Given the description of an element on the screen output the (x, y) to click on. 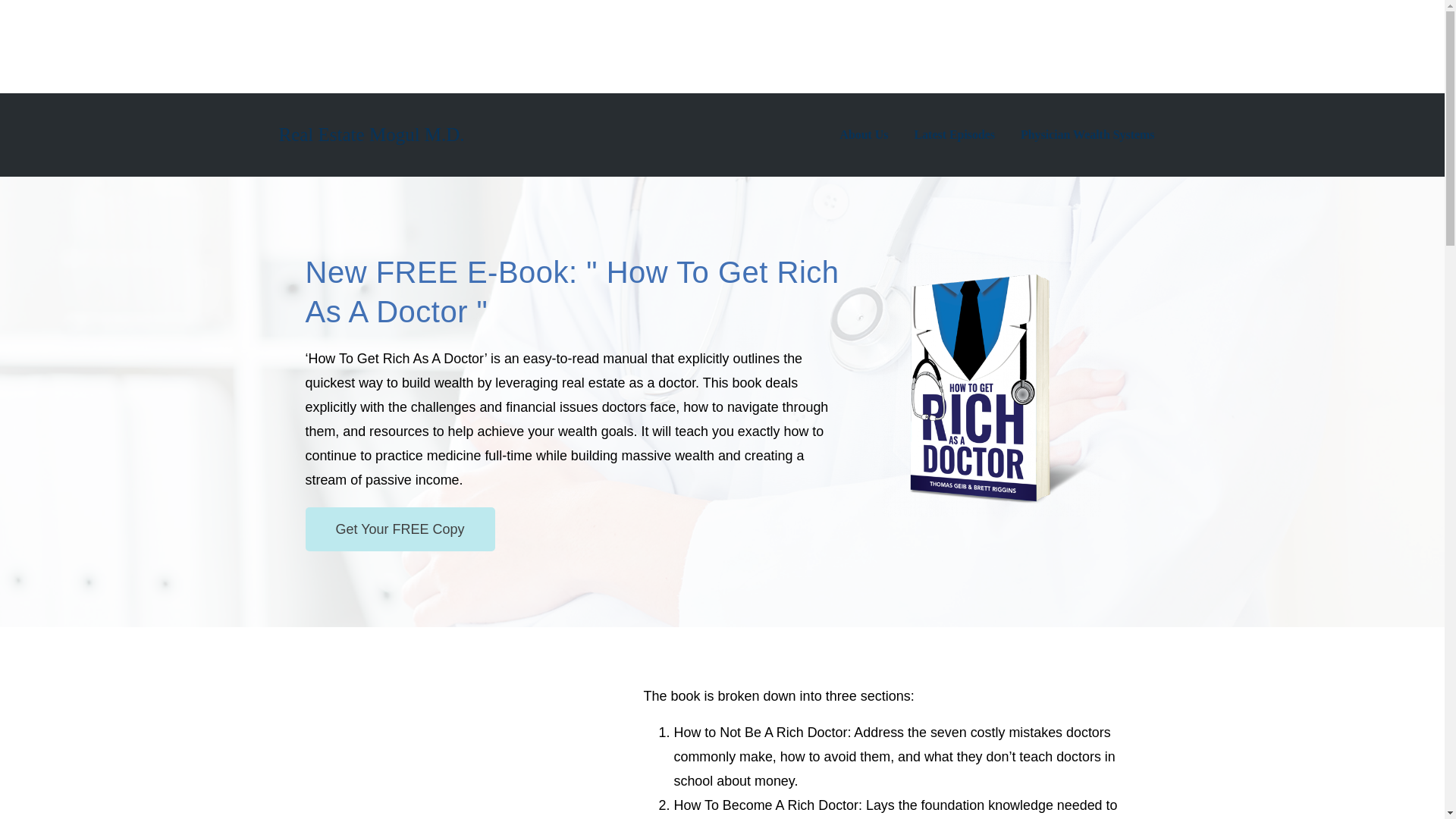
Real Estate Mogul M.D. (371, 134)
Latest Episodes (954, 134)
Get Your FREE Copy (399, 528)
About Us (863, 134)
Real Estate Mogul M.D. (371, 134)
Physician Wealth Systems (1087, 134)
